Given the description of an element on the screen output the (x, y) to click on. 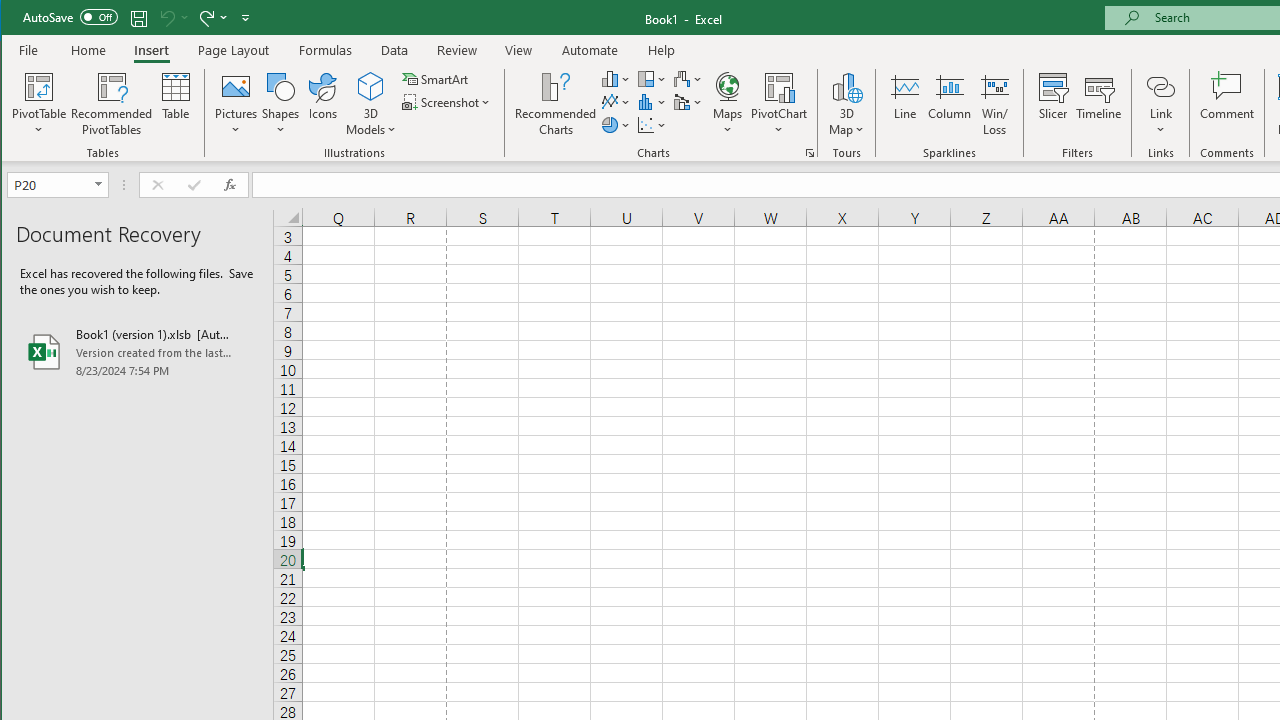
Recommended Charts (809, 152)
Insert Hierarchy Chart (652, 78)
Line (904, 104)
3D Models (371, 86)
Timeline (1098, 104)
Link (1160, 104)
Insert Pie or Doughnut Chart (616, 124)
Link (1160, 86)
